Given the description of an element on the screen output the (x, y) to click on. 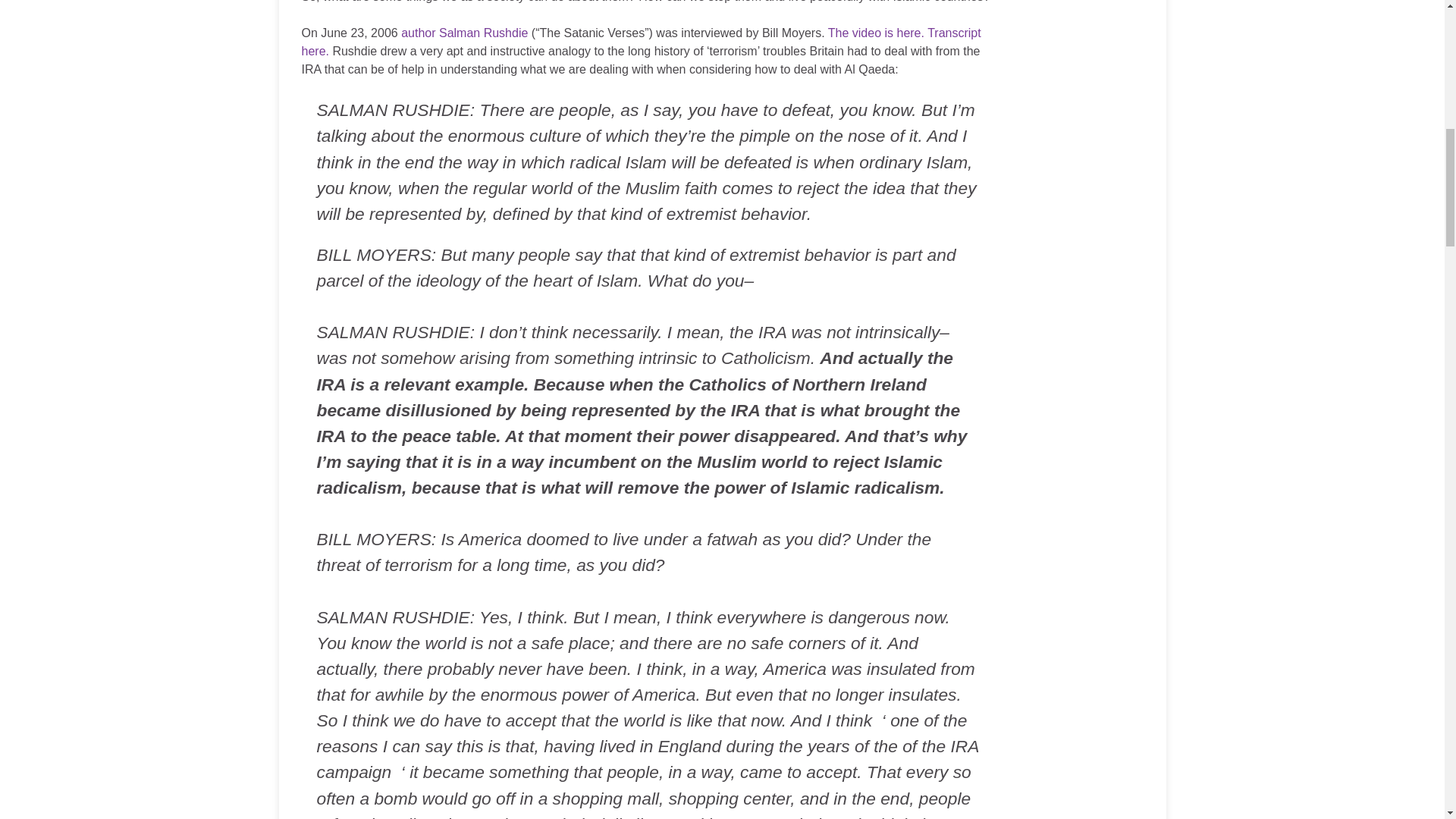
author Salman Rushdie (464, 32)
The video is here. (876, 32)
Transcript here. (641, 41)
